Given the description of an element on the screen output the (x, y) to click on. 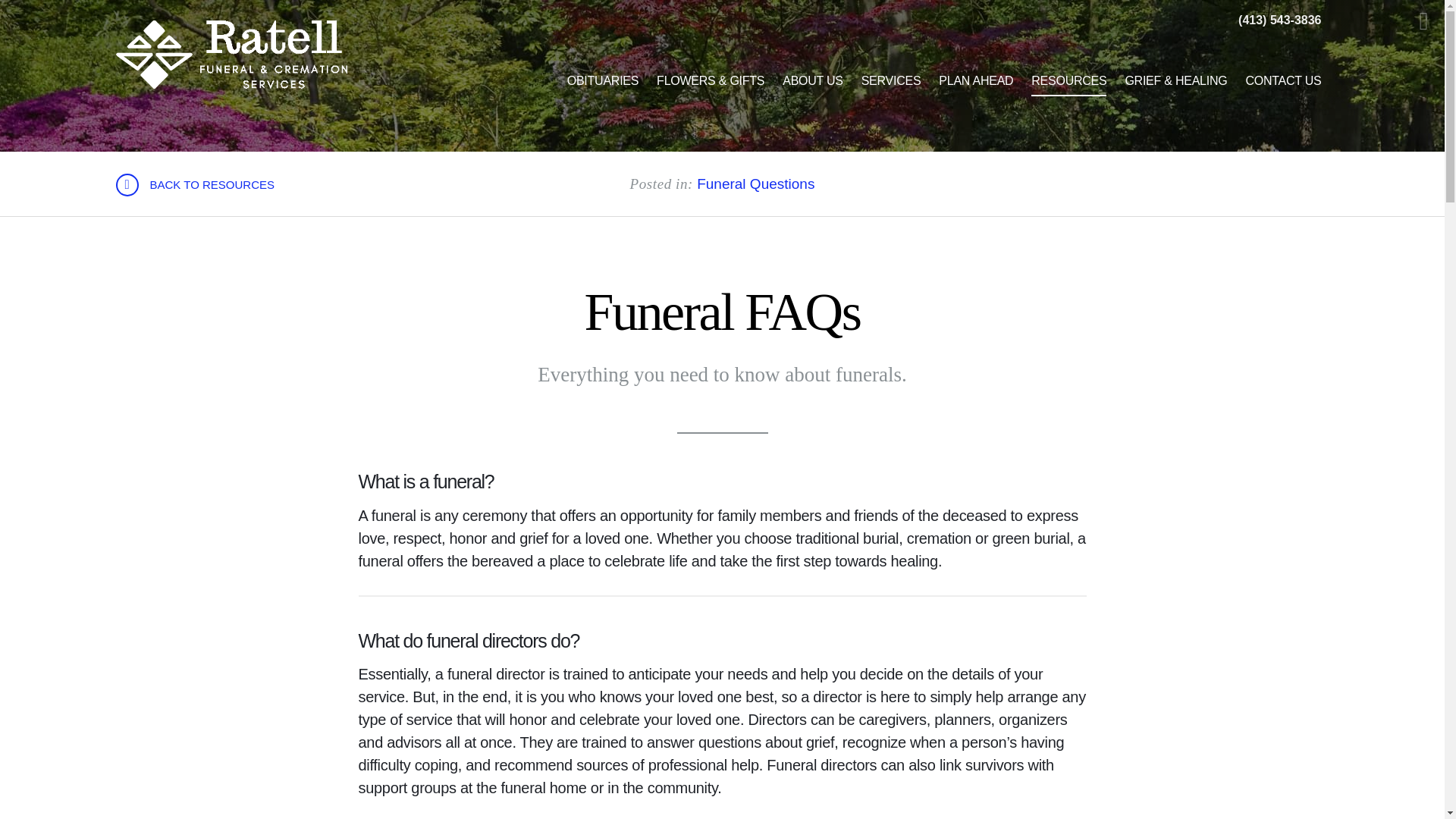
RESOURCES (1068, 81)
SERVICES (890, 81)
OBITUARIES (602, 81)
Skip to content (32, 15)
PLAN AHEAD (975, 81)
CONTACT US (1282, 81)
BACK TO RESOURCES (195, 184)
ABOUT US (812, 81)
